Given the description of an element on the screen output the (x, y) to click on. 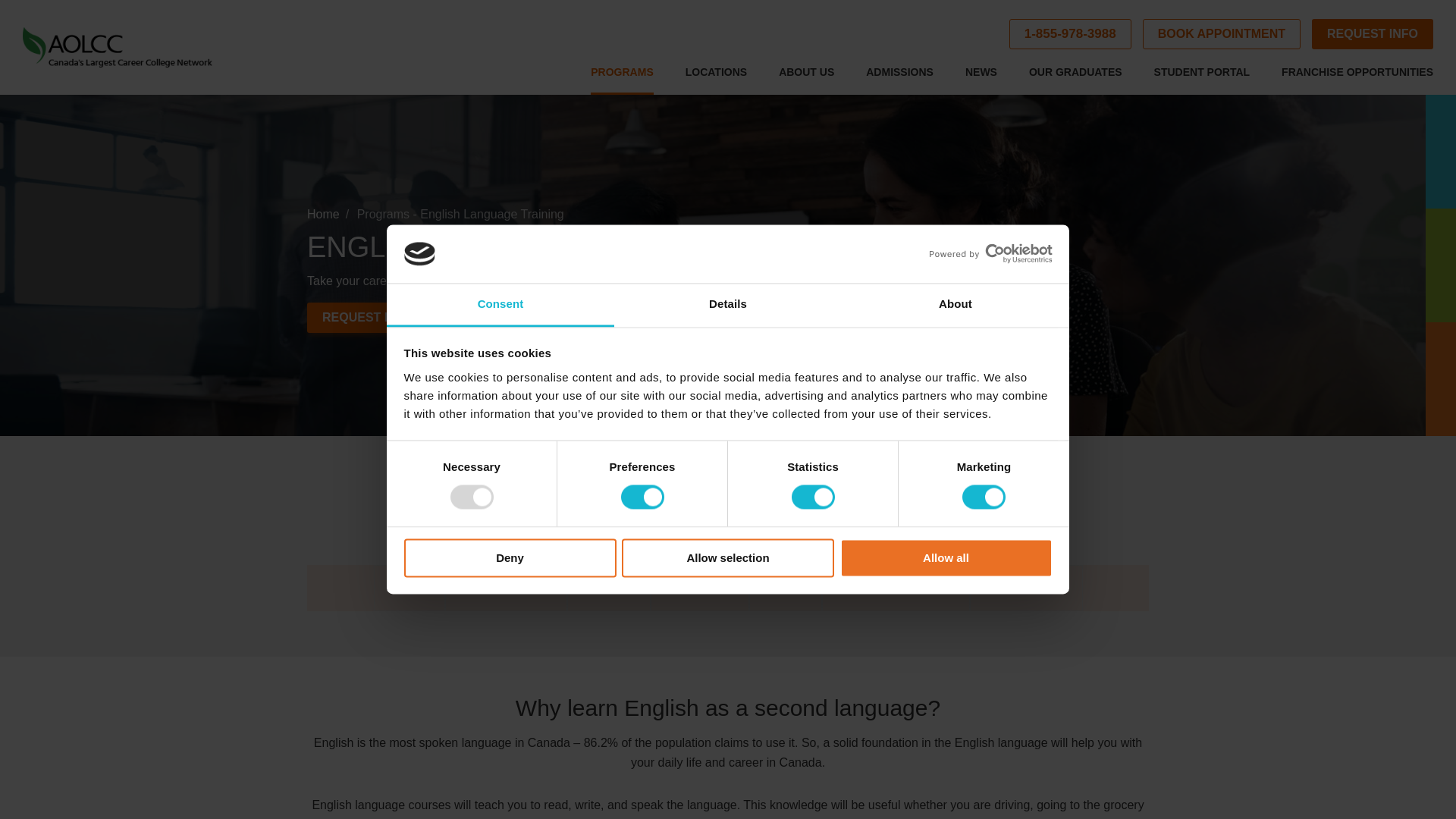
About (954, 304)
1-855-978-3988 (1070, 33)
Book Appointment (1221, 33)
Academy of Learning (117, 47)
Details (727, 304)
Consent (500, 304)
Request Info (1371, 33)
Locations (715, 79)
